Given the description of an element on the screen output the (x, y) to click on. 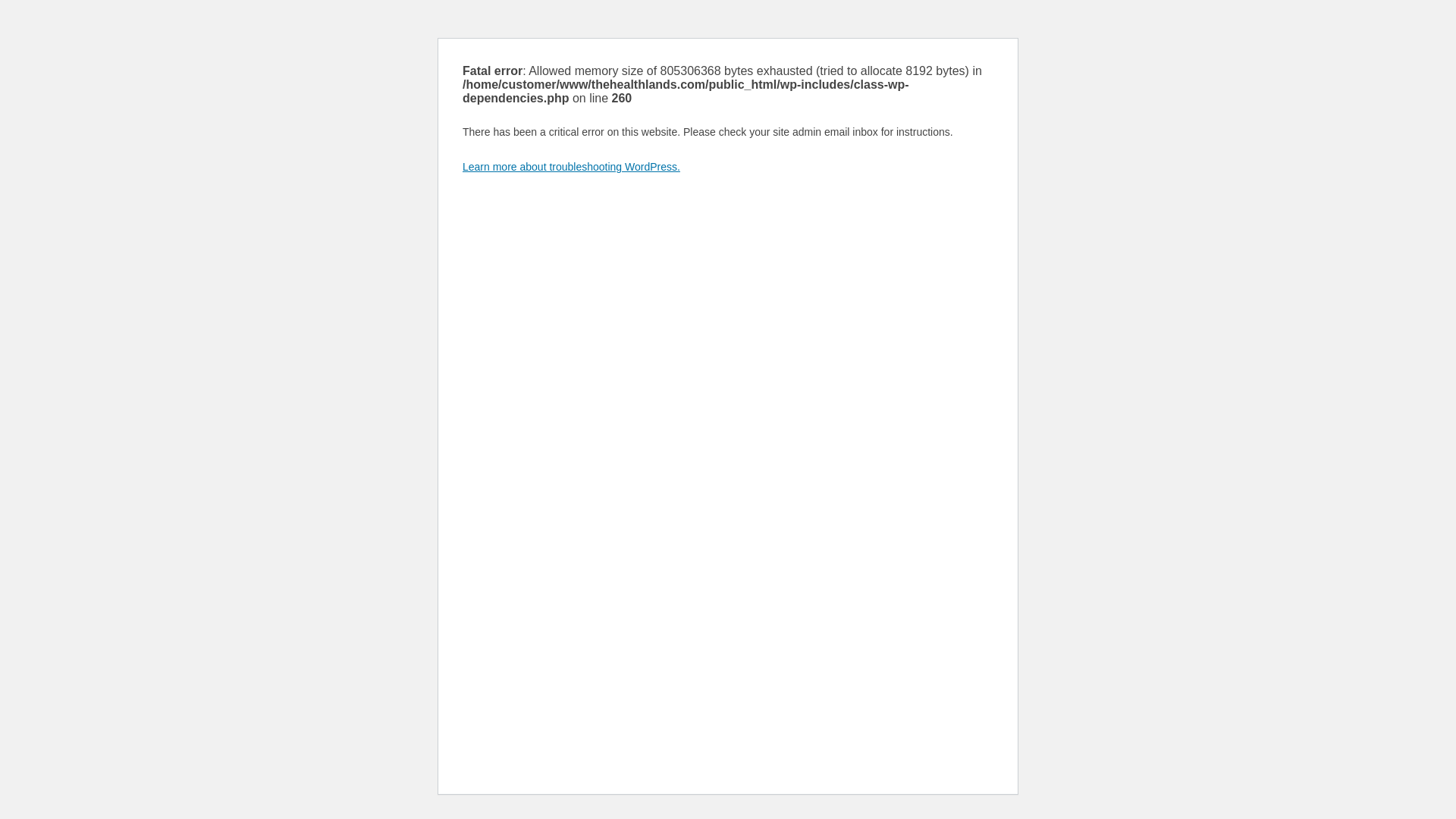
Learn more about troubleshooting WordPress. Element type: text (571, 166)
